Given the description of an element on the screen output the (x, y) to click on. 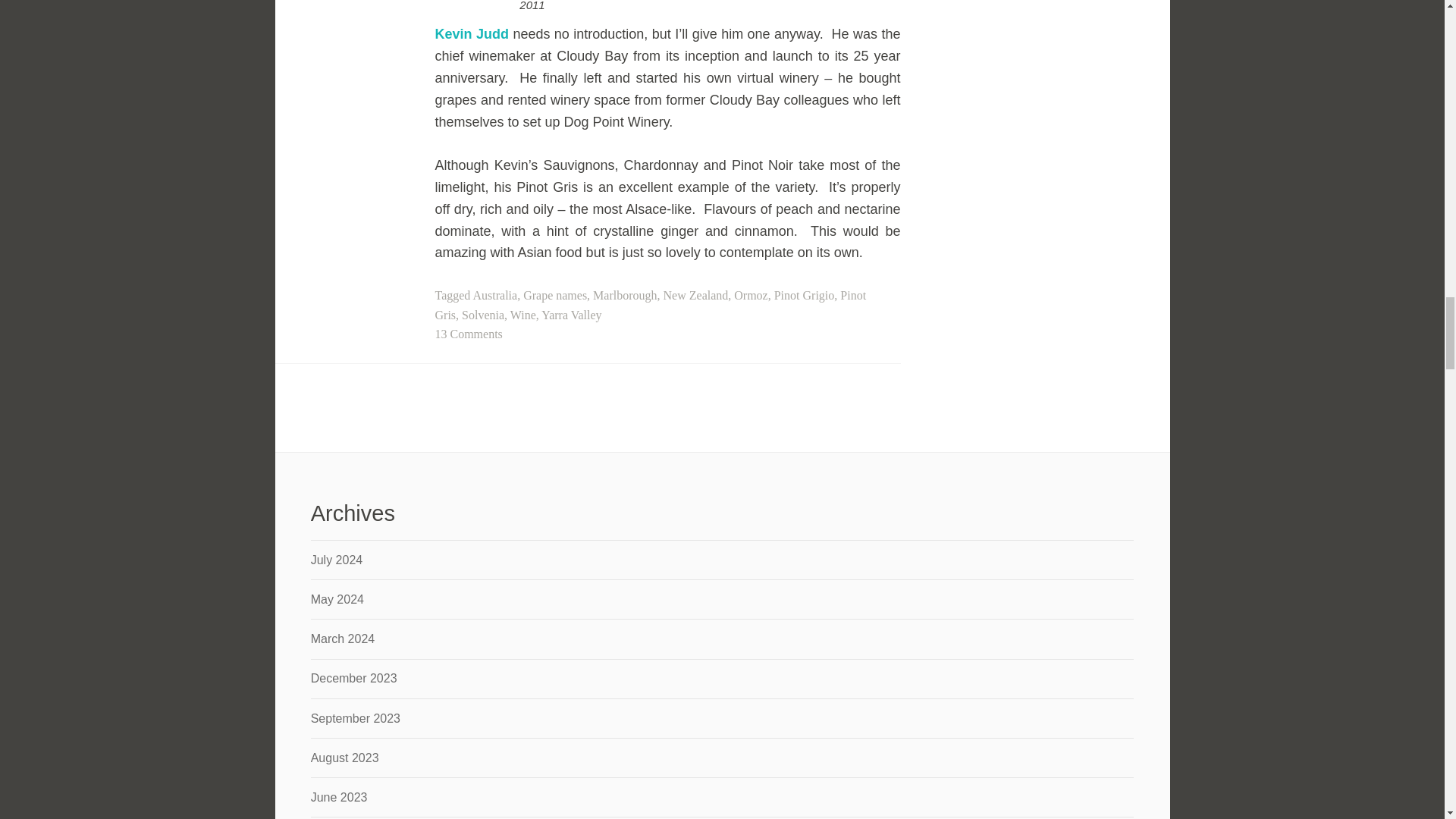
Marlborough (624, 295)
Pinot Gris (650, 305)
New Zealand (696, 295)
Ormoz (750, 295)
Yarra Valley (571, 314)
Grape names (554, 295)
NZ Sauvignon Masterclass (471, 33)
Pinot Grigio (804, 295)
Solvenia (482, 314)
Kevin Judd (471, 33)
